Given the description of an element on the screen output the (x, y) to click on. 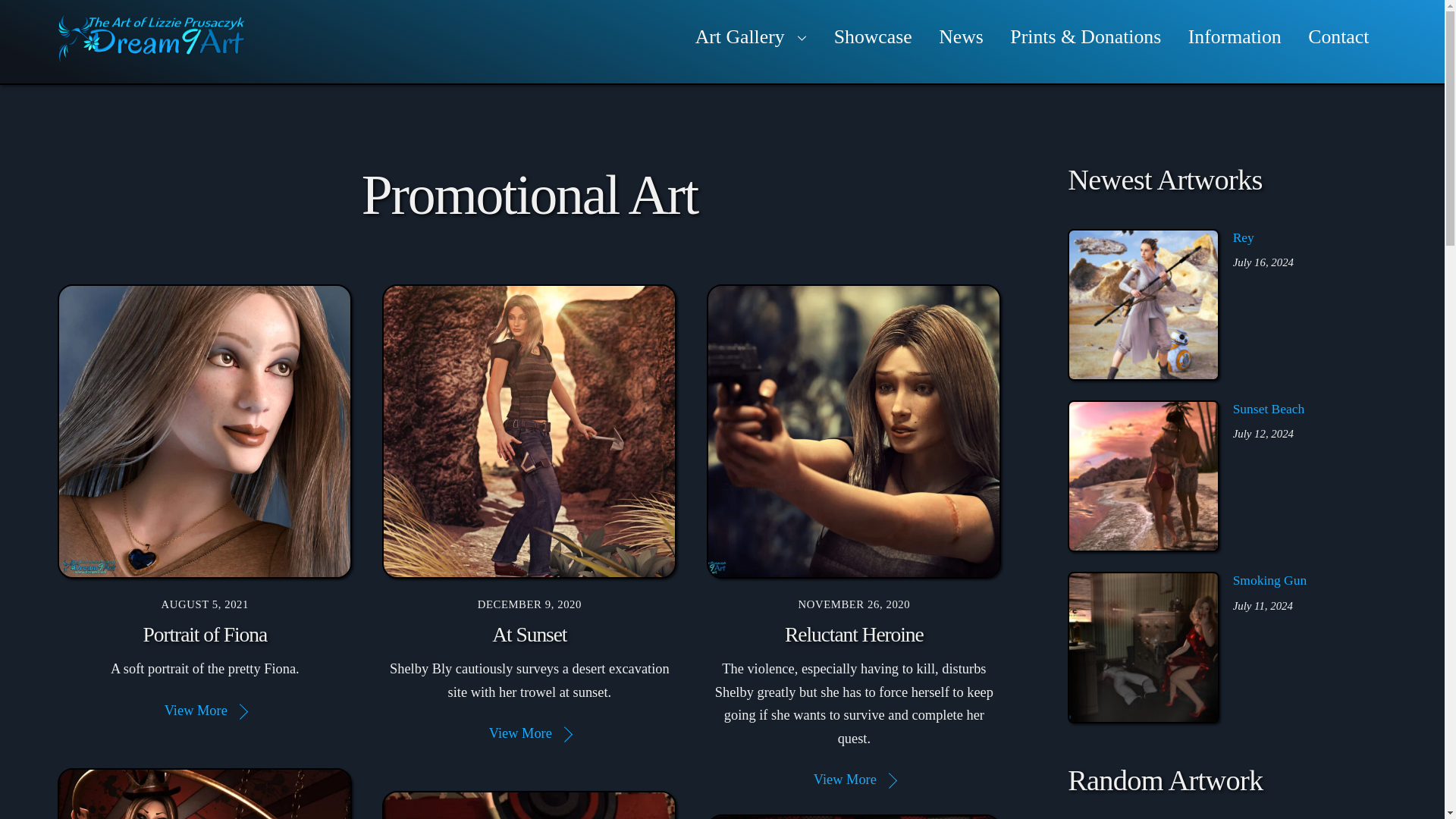
Hailee's Madness (529, 805)
Reluctant Heroine (853, 634)
View More (529, 733)
Contact (1338, 36)
Sunset Beach (1143, 476)
Reluctant Heroine (853, 431)
Information (1234, 36)
Dream 9 Art (152, 54)
News (961, 36)
dream9art Rey (1143, 304)
At Sunset (529, 431)
Portrait of Fiona (205, 431)
Heart of Mischief (853, 816)
Smoking Gun (1143, 647)
Showcase (872, 36)
